Given the description of an element on the screen output the (x, y) to click on. 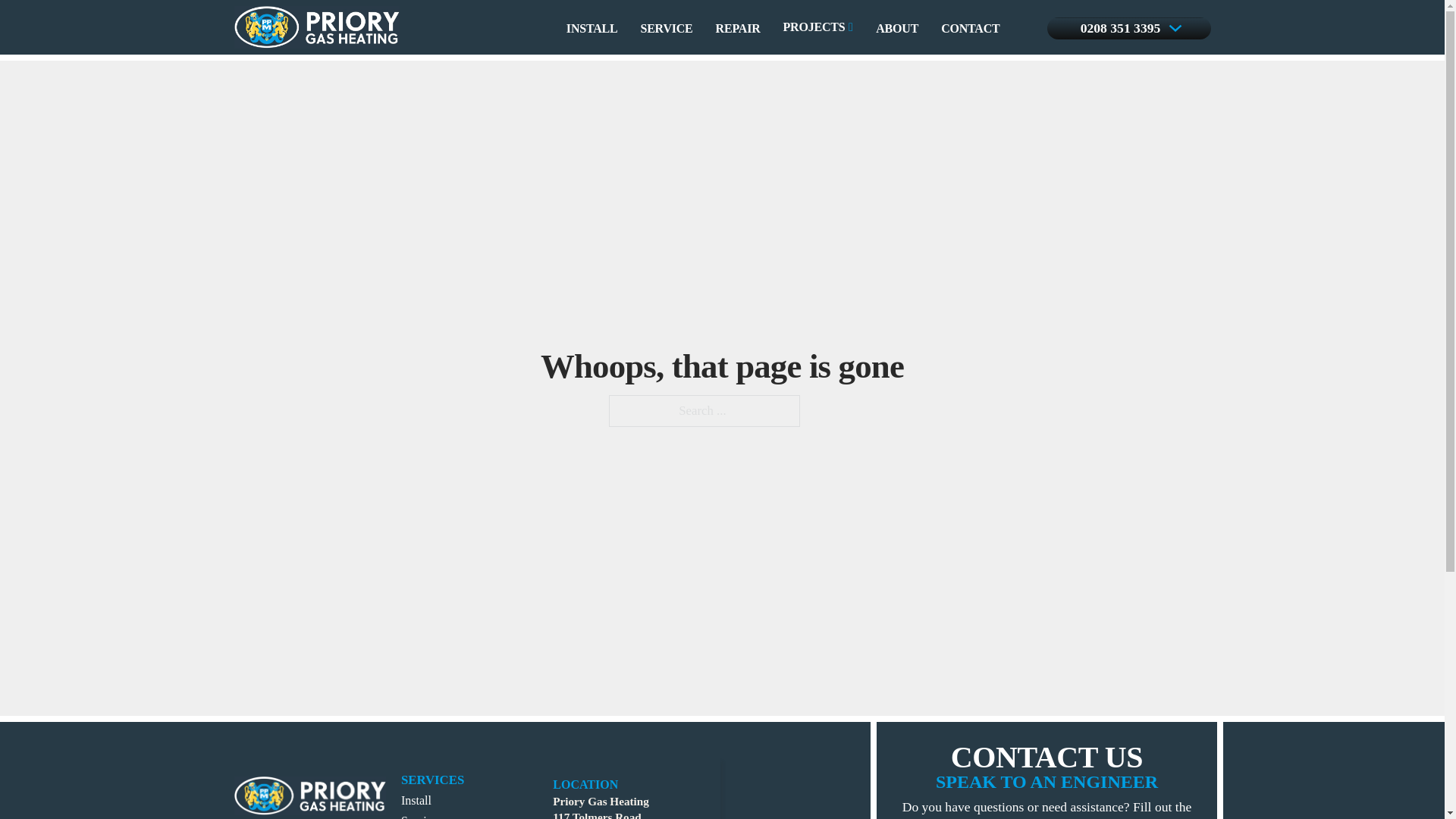
CONTACT (969, 187)
REPAIR (738, 187)
INSTALL (591, 187)
ABOUT (897, 187)
SERVICE (666, 187)
